Given the description of an element on the screen output the (x, y) to click on. 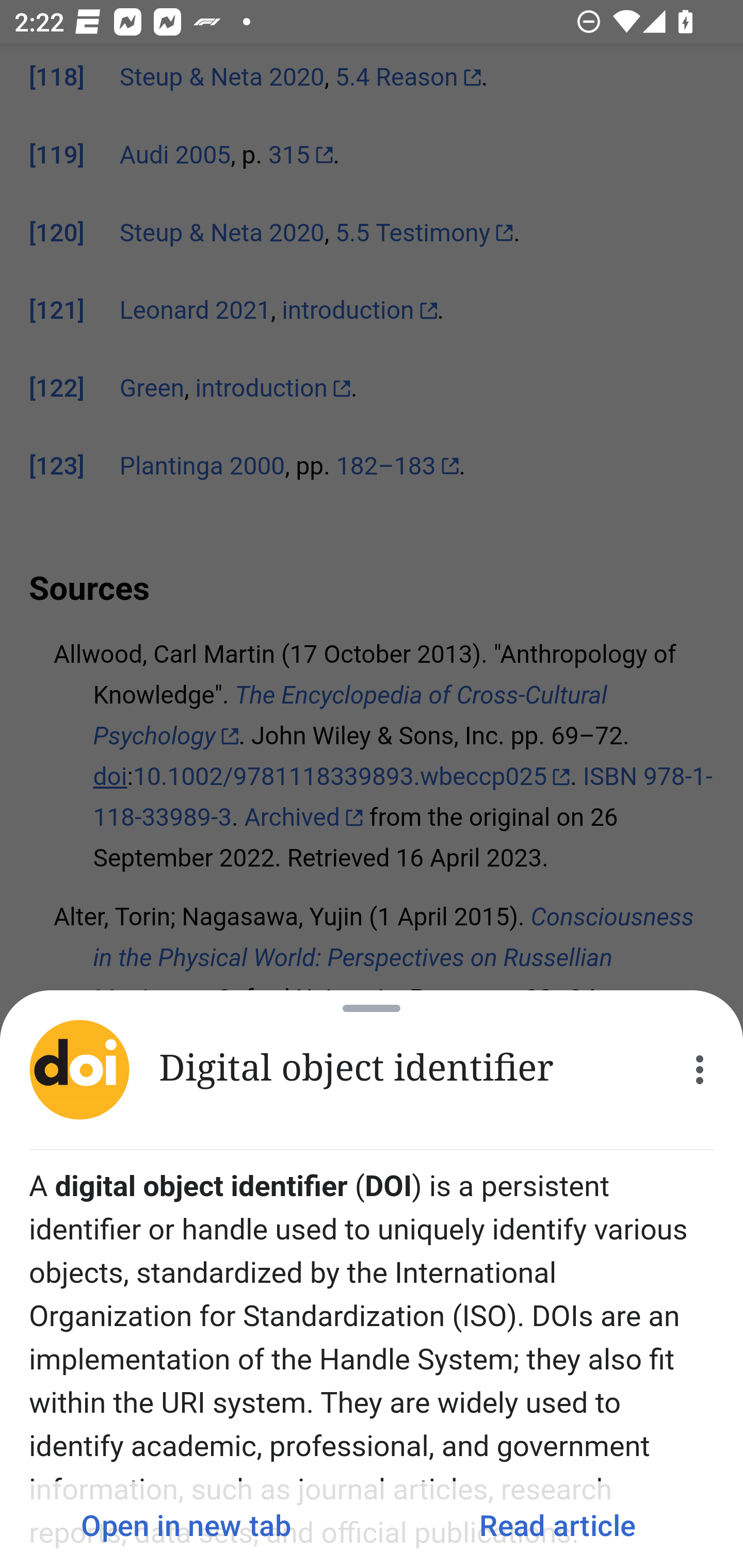
Digital object identifier More options (371, 1069)
More options (699, 1070)
Open in new tab (185, 1524)
Read article (557, 1524)
